Given the description of an element on the screen output the (x, y) to click on. 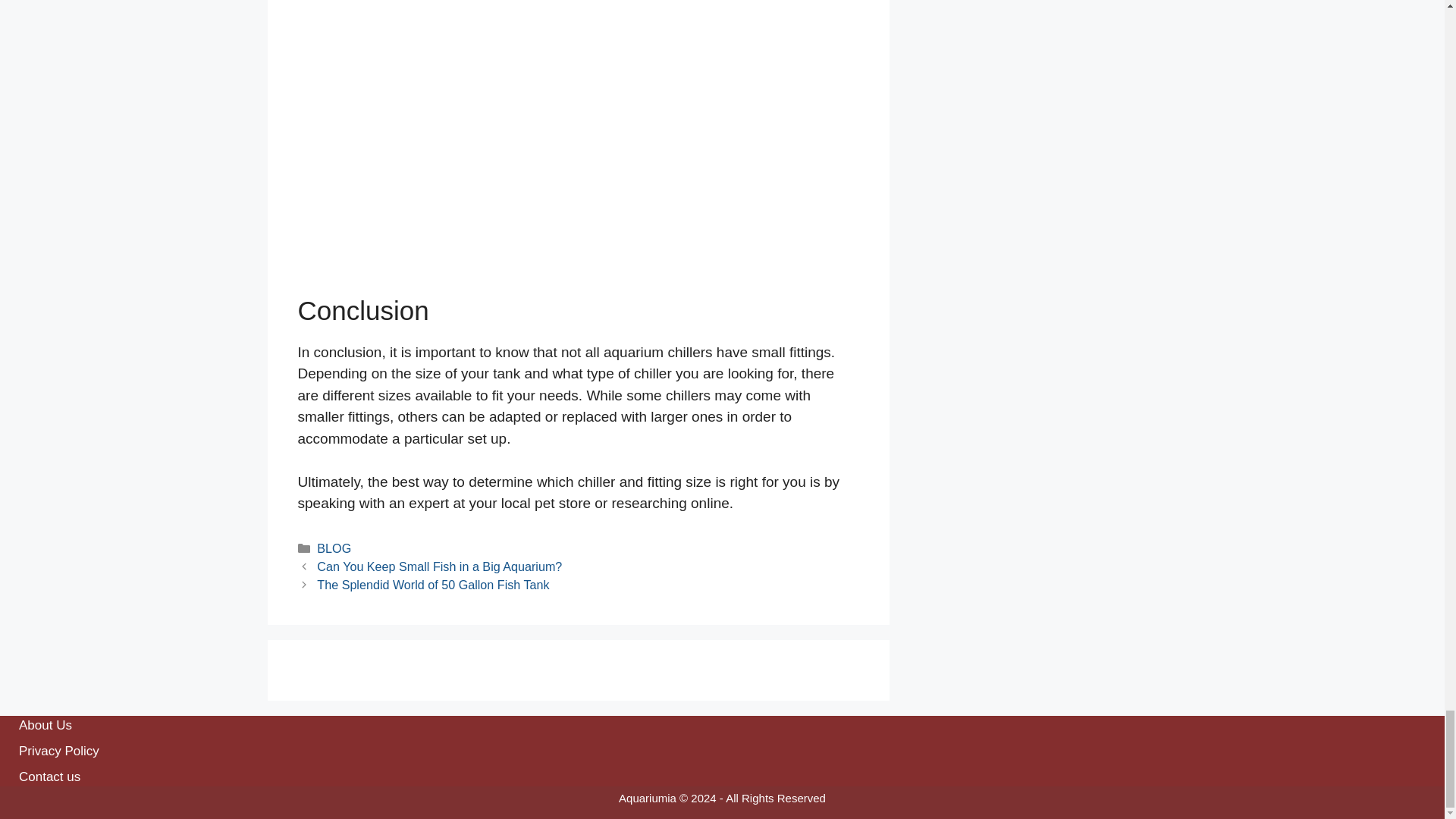
Can You Keep Small Fish in a Big Aquarium? (439, 566)
BLOG (333, 548)
The Splendid World of 50 Gallon Fish Tank (432, 584)
